Given the description of an element on the screen output the (x, y) to click on. 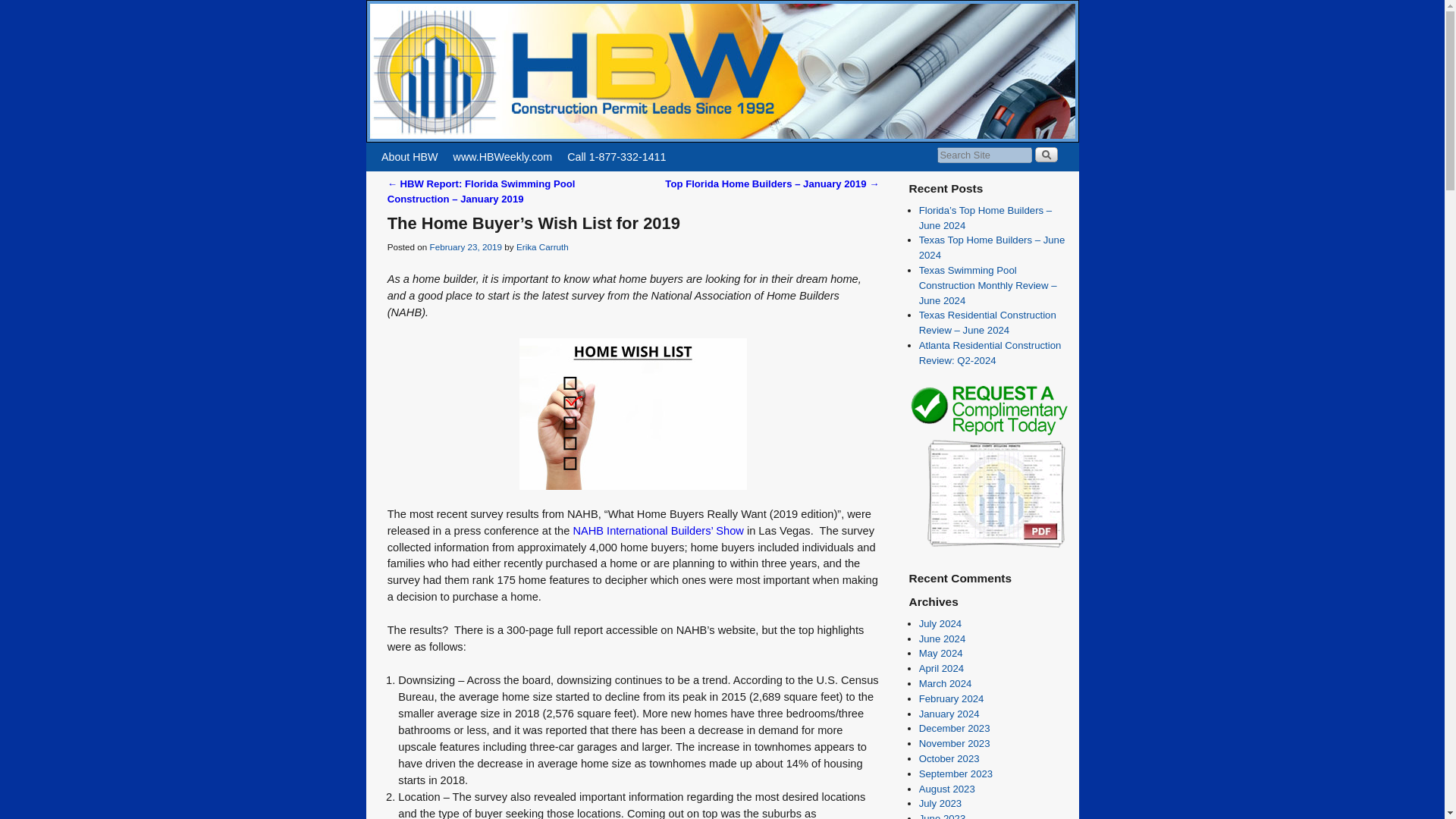
Erika Carruth (542, 246)
Get a Complimentary Report of Construction Permits (987, 546)
Skip to primary content (408, 148)
About HBW (409, 156)
July 2024 (939, 623)
February 23, 2019 (465, 246)
March 2024 (945, 683)
3:05 pm (465, 246)
Call 1-877-332-1411 (615, 156)
June 2024 (942, 638)
Atlanta Residential Construction Review: Q2-2024 (989, 352)
www.HBWeekly.com (502, 156)
May 2024 (940, 653)
View all posts by Erika Carruth (542, 246)
Skip to secondary content (413, 148)
